Given the description of an element on the screen output the (x, y) to click on. 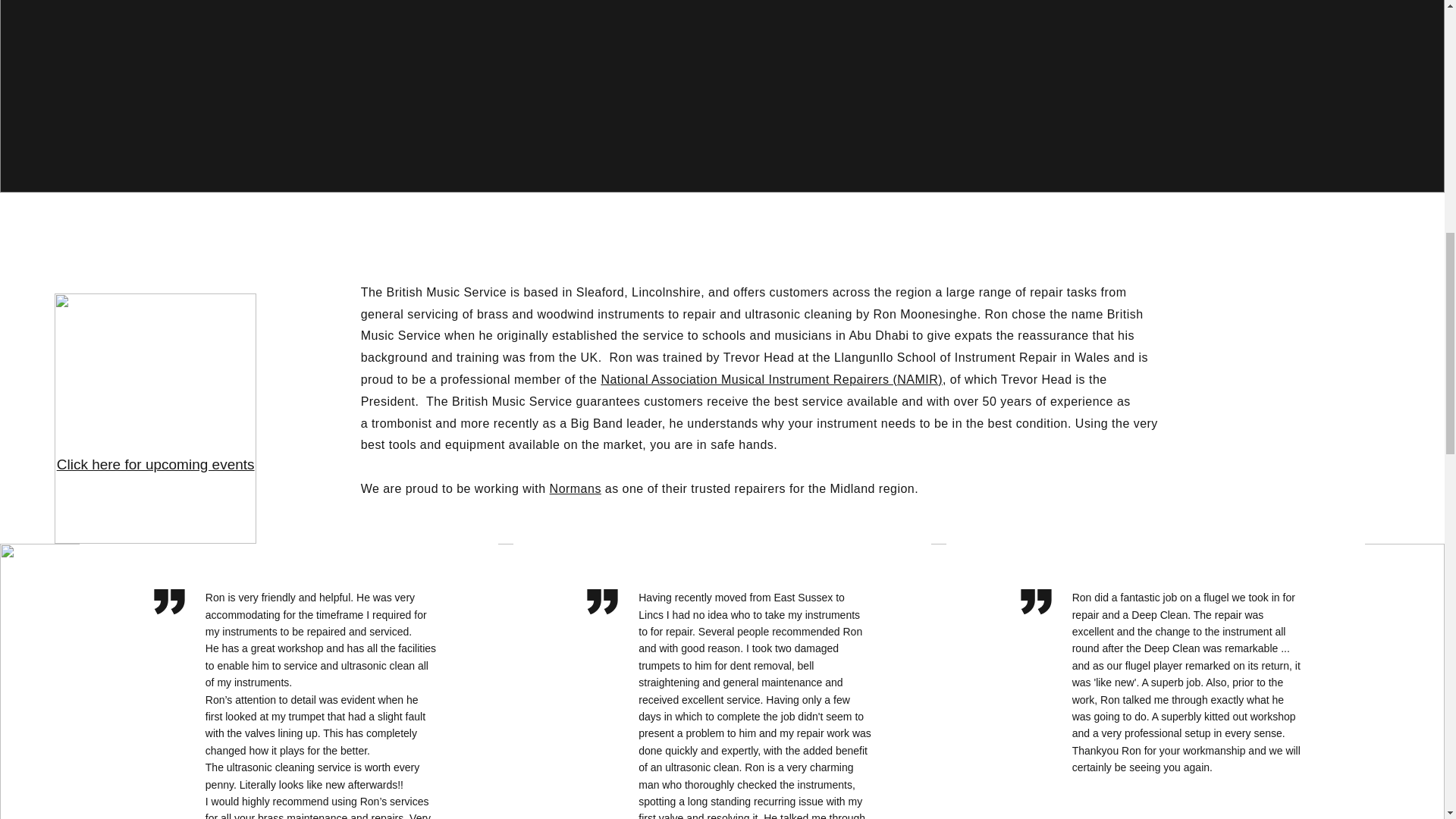
Normans (575, 488)
Click here for upcoming events (155, 464)
